Given the description of an element on the screen output the (x, y) to click on. 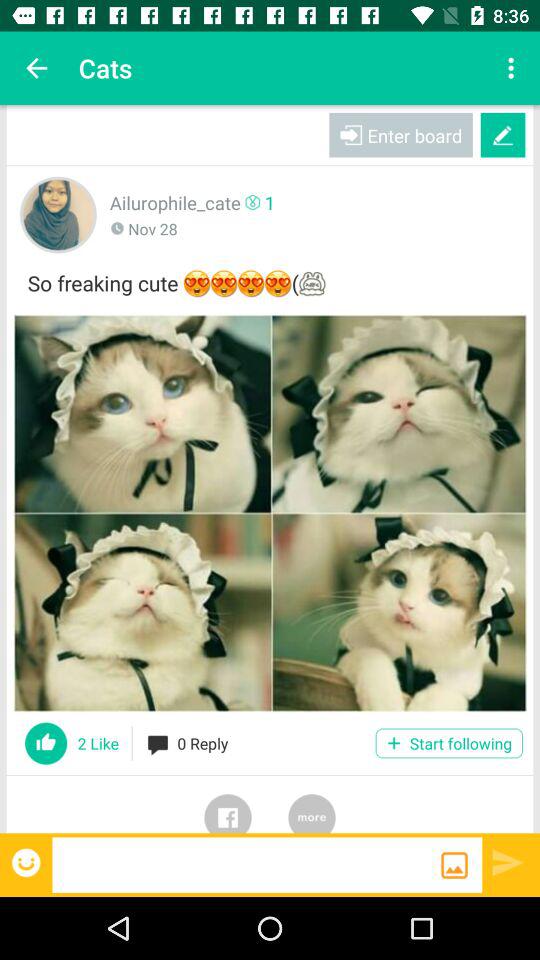
tap app next to cats (513, 67)
